Given the description of an element on the screen output the (x, y) to click on. 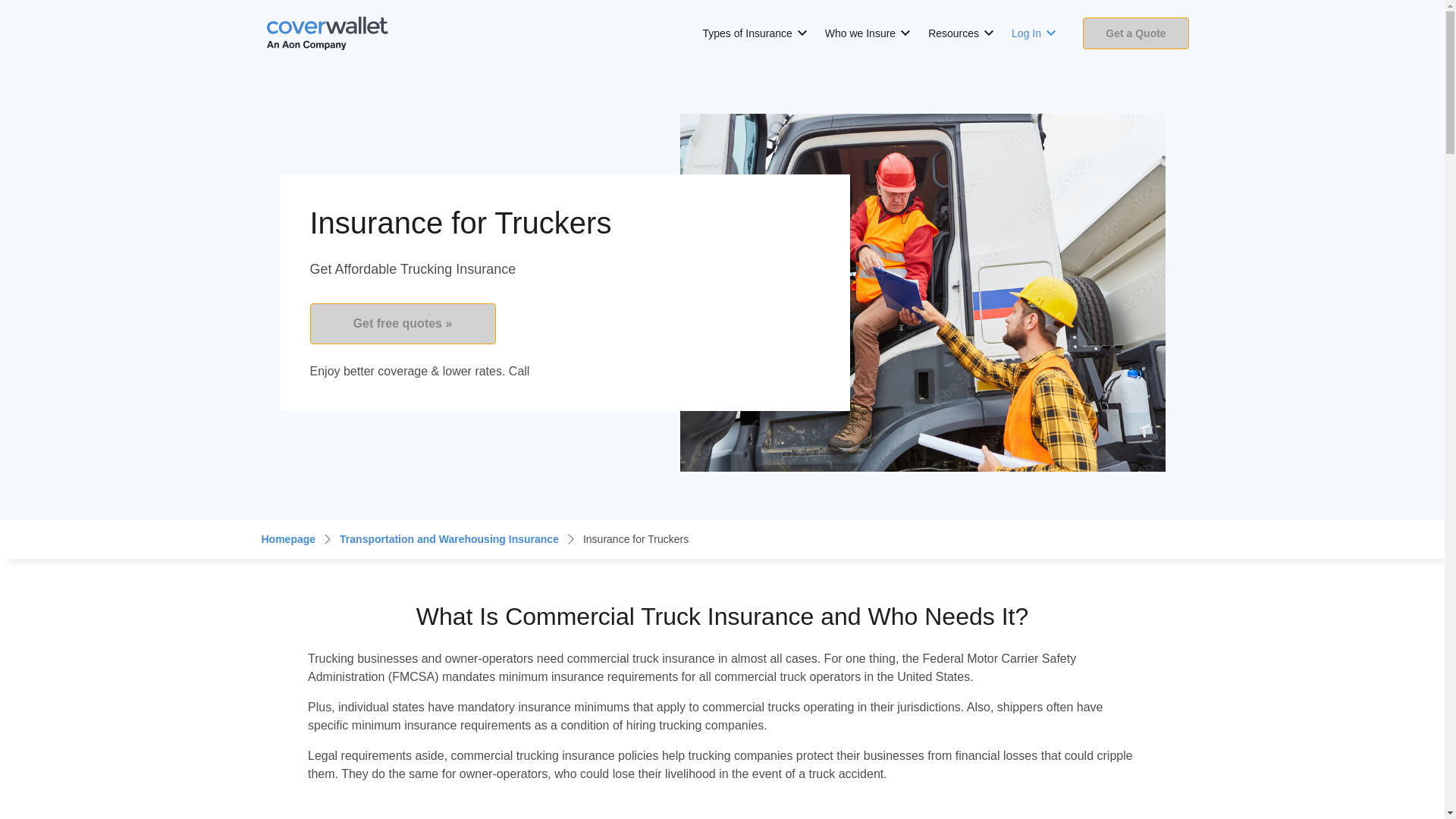
Homepage (287, 539)
Transportation and Warehousing Insurance (449, 539)
Insurance for Truckers (635, 539)
Get a Quote (1136, 32)
